Given the description of an element on the screen output the (x, y) to click on. 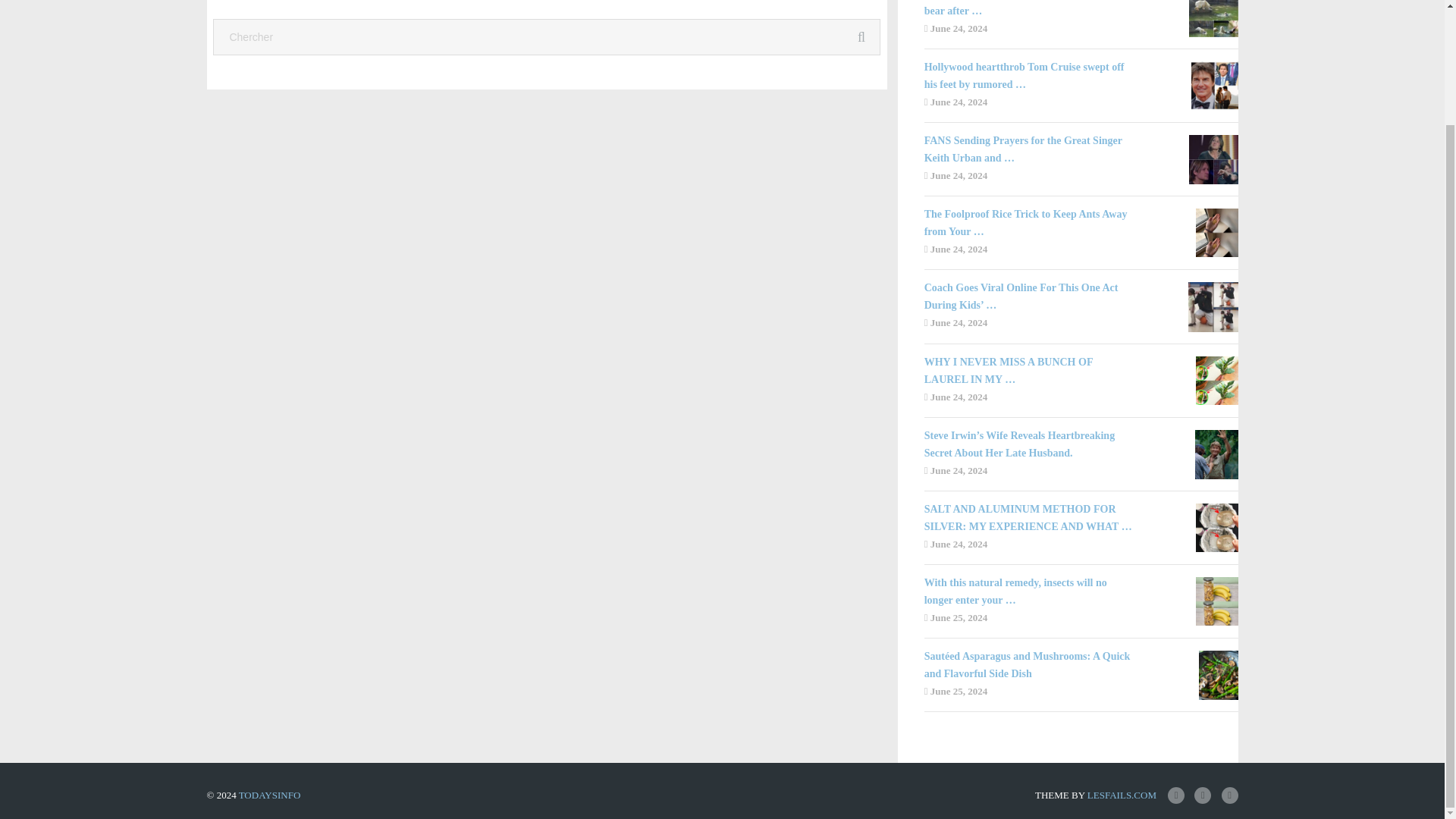
TODAYSINFO (269, 794)
